Given the description of an element on the screen output the (x, y) to click on. 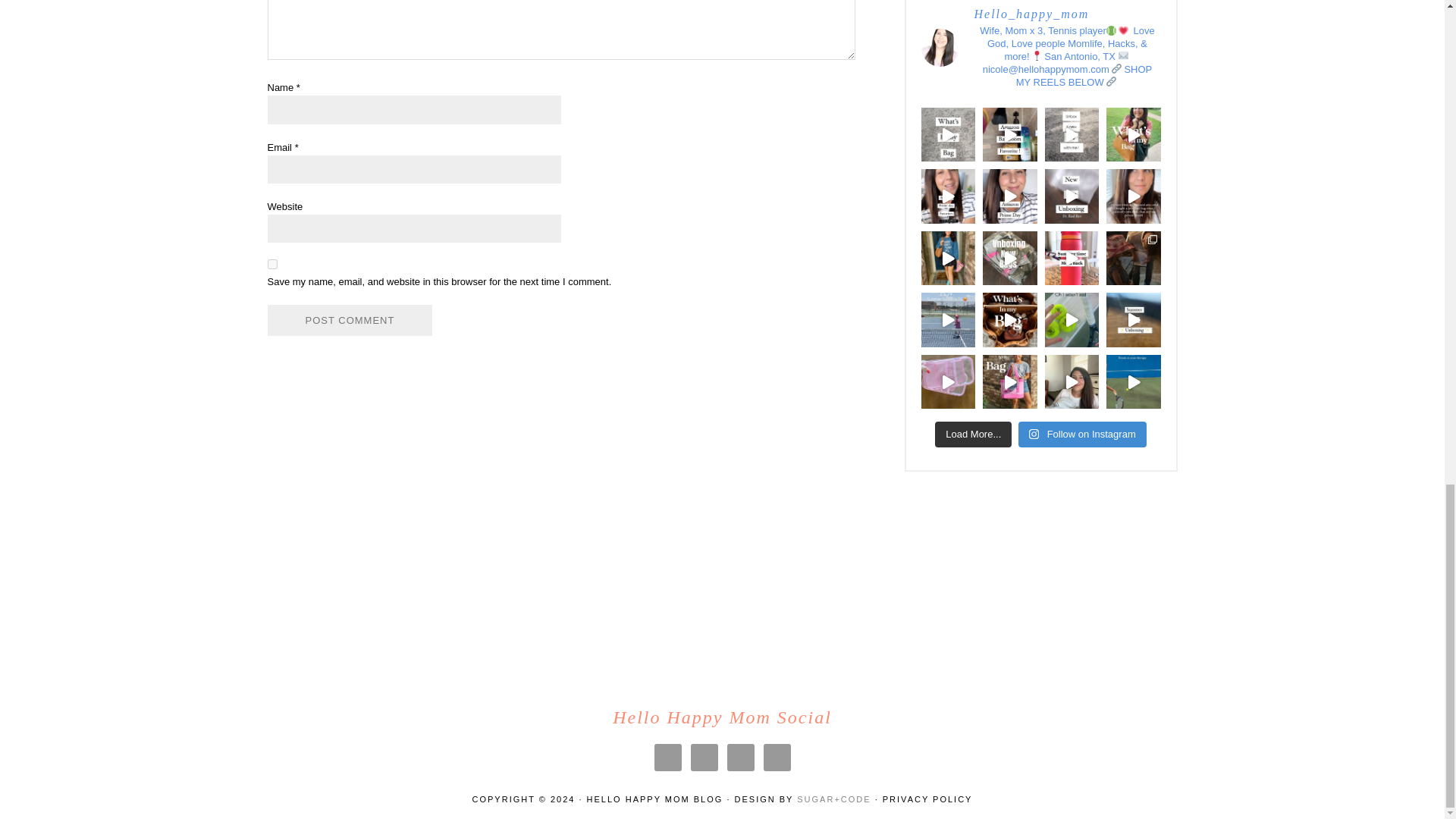
Post Comment (349, 319)
yes (271, 264)
Post Comment (349, 319)
